Given the description of an element on the screen output the (x, y) to click on. 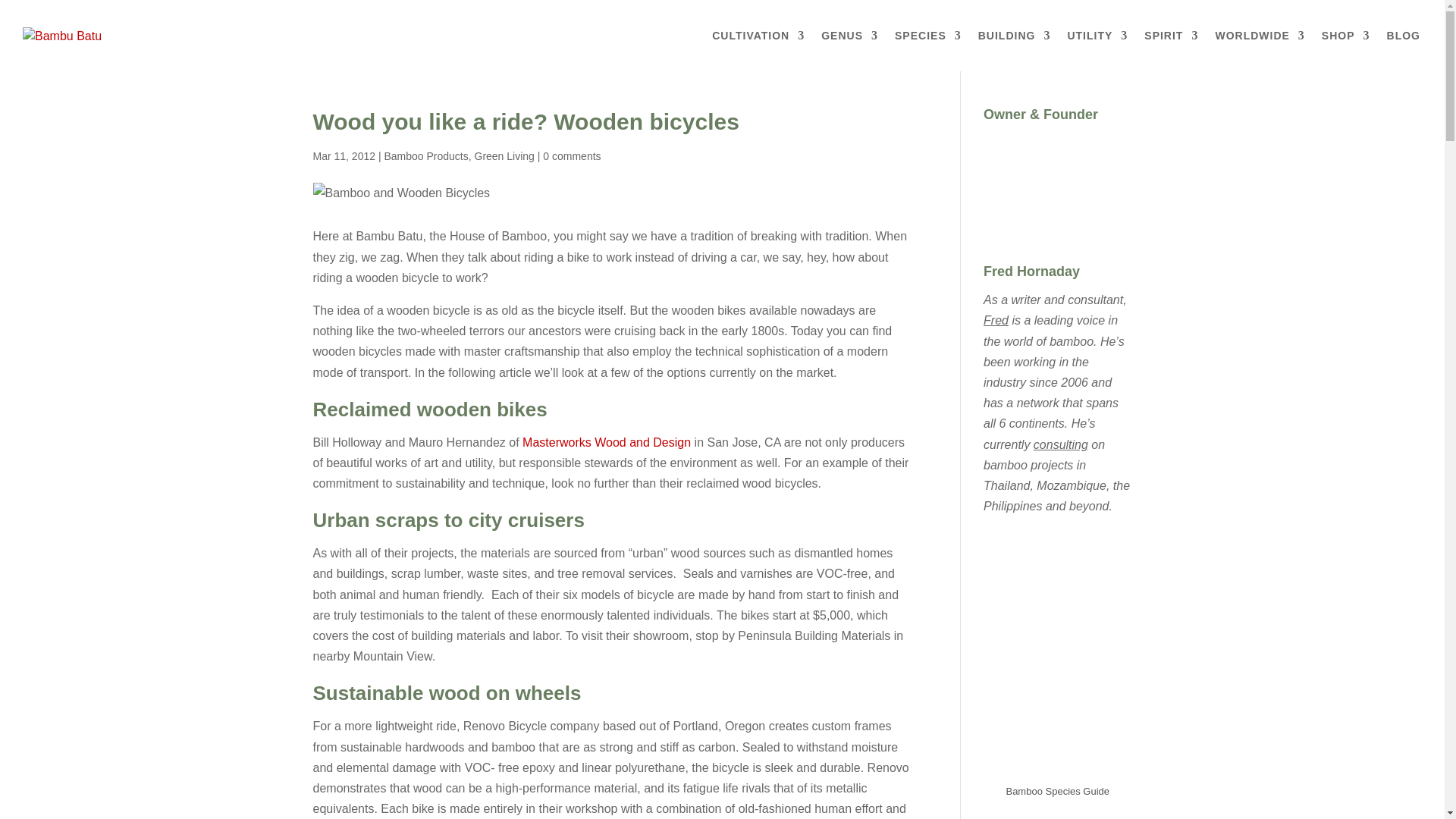
CULTIVATION (758, 50)
Masterworks Wood and Design (606, 441)
BUILDING (1014, 50)
SPECIES (927, 50)
GENUS (849, 50)
